Given the description of an element on the screen output the (x, y) to click on. 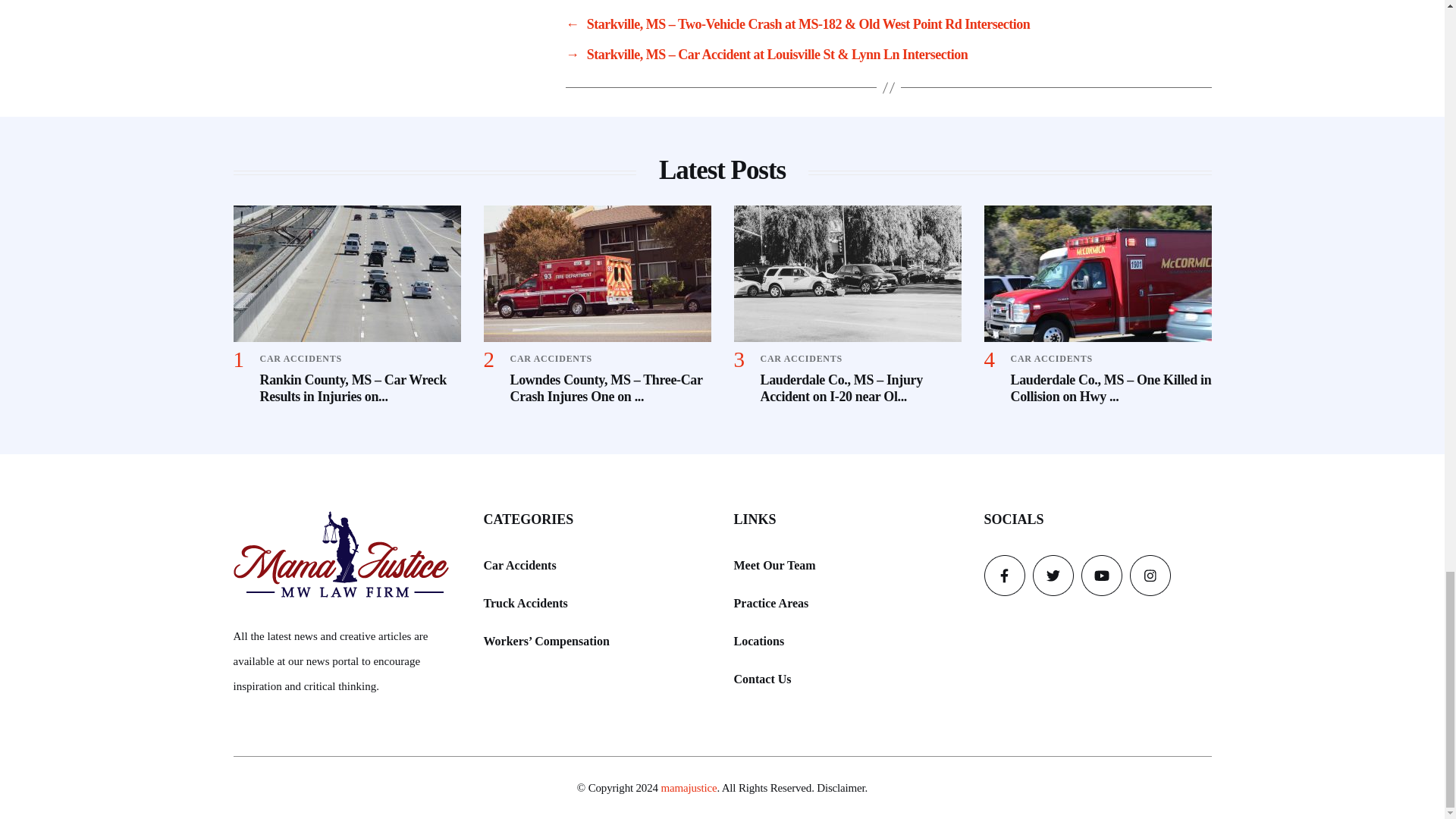
CAR ACCIDENTS (1051, 357)
CAR ACCIDENTS (800, 357)
Truck Accidents (525, 602)
CAR ACCIDENTS (299, 357)
CAR ACCIDENTS (550, 357)
Car Accidents (519, 565)
